Given the description of an element on the screen output the (x, y) to click on. 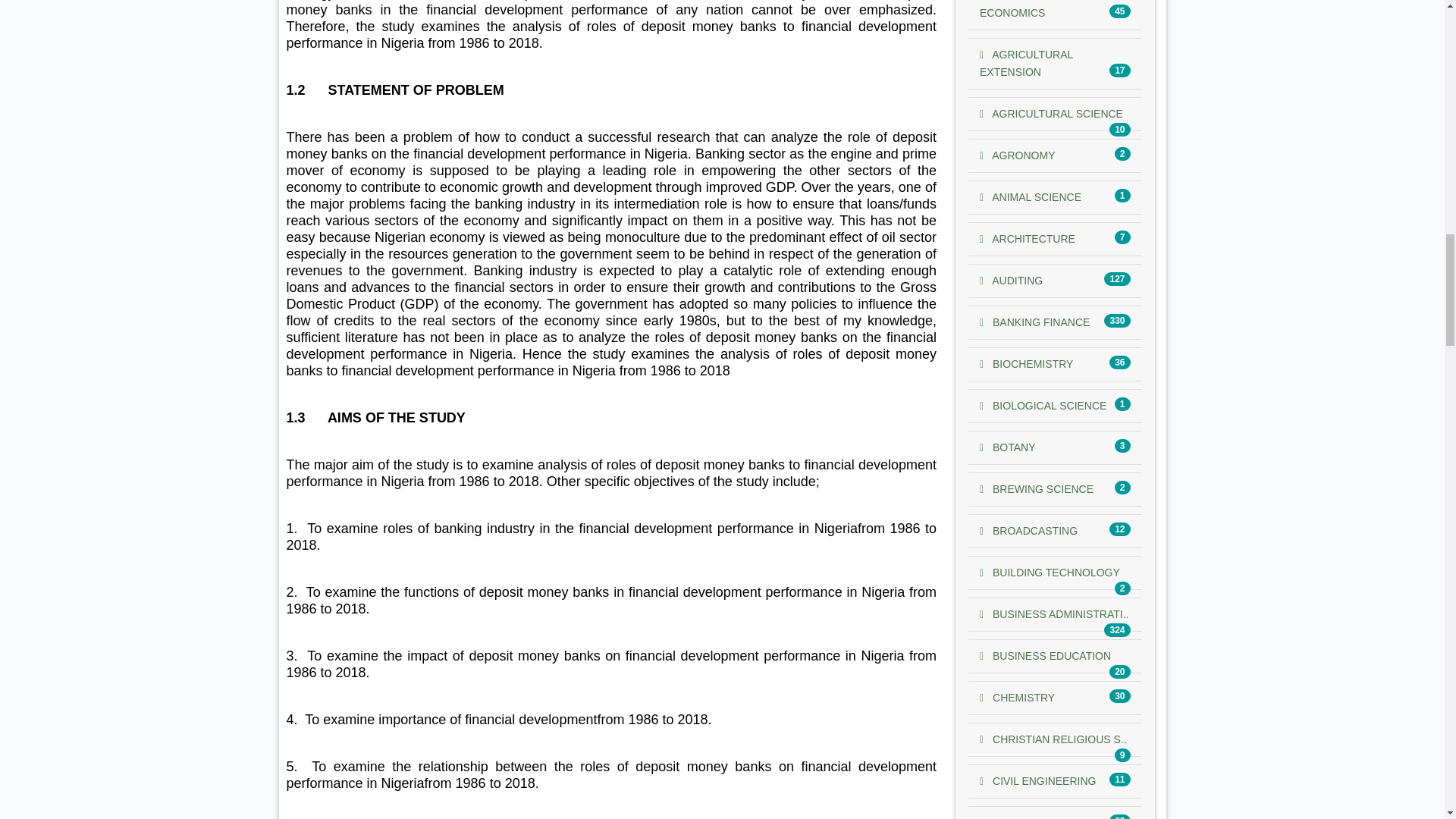
AGRONOMY PROJECT TOPICS AND RESEARCH MATERIALS (1016, 155)
AGRICULTURAL SCIENCE PROJECT TOPICS AND RESEARCH MATERIALS (1050, 113)
BOTANY PROJECT TOPICS AND RESEARCH MATERIALS (1007, 447)
ANIMAL SCIENCE PROJECT TOPICS AND RESEARCH MATERIALS (1030, 196)
BANKING FINANCE PROJECT TOPICS AND RESEARCH MATERIALS (1034, 322)
BIOLOGICAL SCIENCE PROJECT TOPICS AND RESEARCH MATERIALS (1042, 405)
AGRICULTURAL EXTENSION PROJECT TOPICS AND RESEARCH MATERIALS (1026, 62)
ARCHITECTURE PROJECT TOPICS AND RESEARCH MATERIALS (1027, 238)
AUDITING  PROJECT TOPICS AND RESEARCH MATERIALS (1010, 280)
BIOCHEMISTRY PROJECT TOPICS AND RESEARCH MATERIALS (1026, 363)
AGRICULTURAL ECONOMICS PROJECT TOPICS AND RESEARCH MATERIALS (1026, 9)
